Given the description of an element on the screen output the (x, y) to click on. 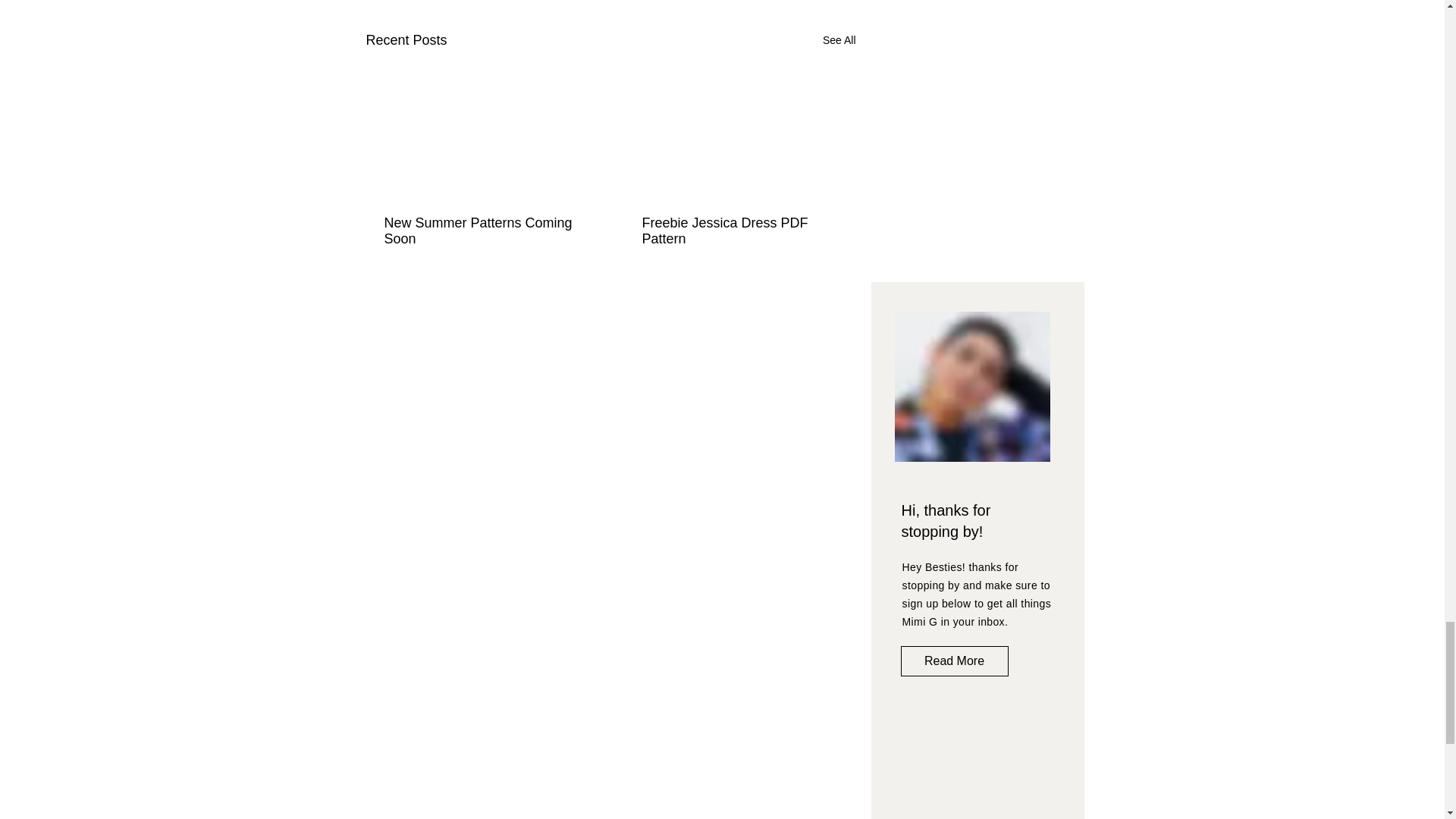
Read More (955, 661)
New Summer Patterns Coming Soon (481, 231)
Mimi G Newsletter (977, 767)
Freebie Jessica Dress PDF Pattern (739, 231)
See All (839, 40)
